Given the description of an element on the screen output the (x, y) to click on. 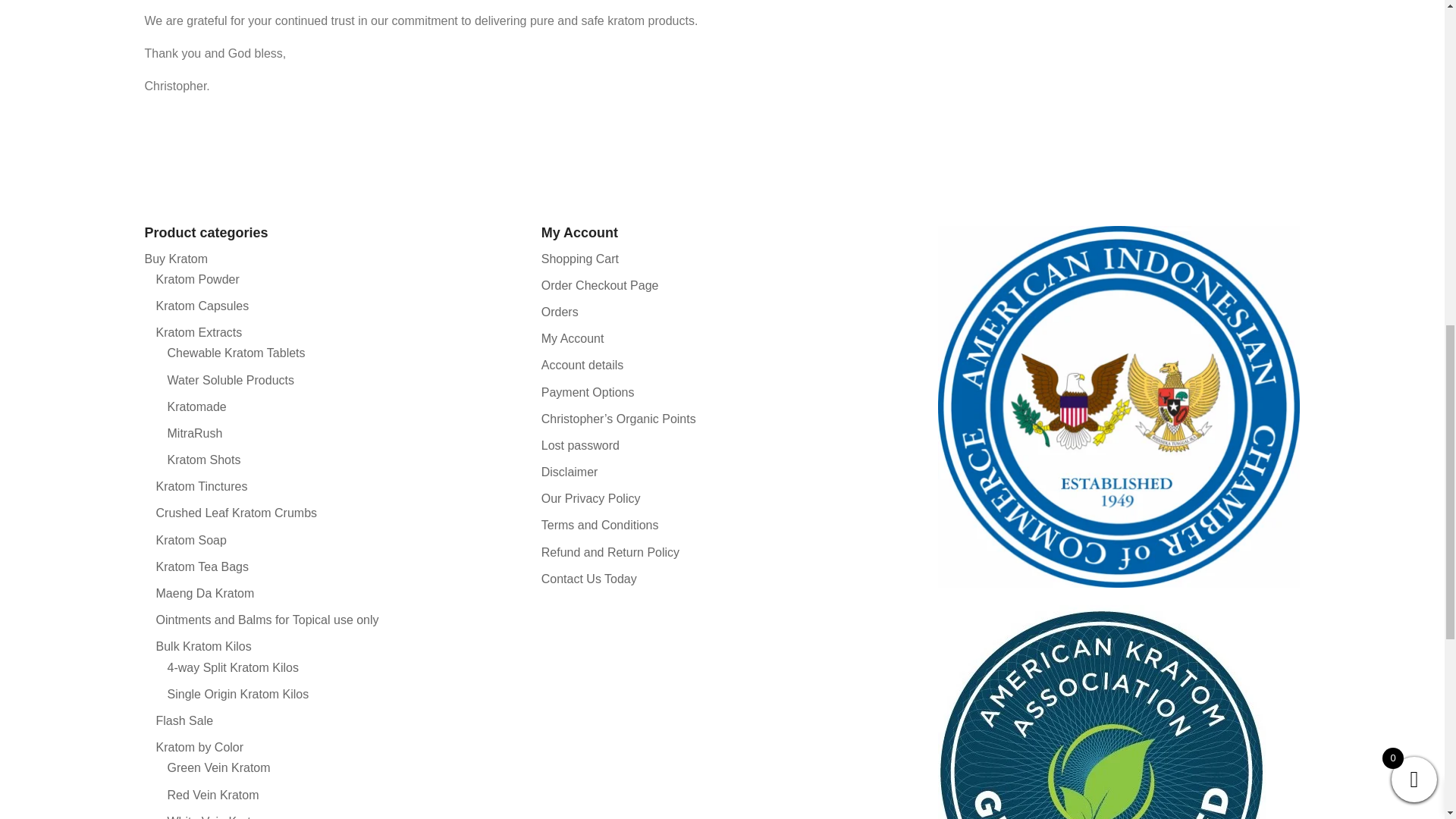
Kratom Capsules (201, 305)
Water Soluble Products (230, 379)
Chewable Kratom Tablets (235, 352)
Kratom Extracts (199, 332)
Kratomade (196, 406)
American Indonesian Chamber of Commerce Logo (1118, 407)
Buy Kratom (176, 258)
Kratom Powder (197, 278)
